Given the description of an element on the screen output the (x, y) to click on. 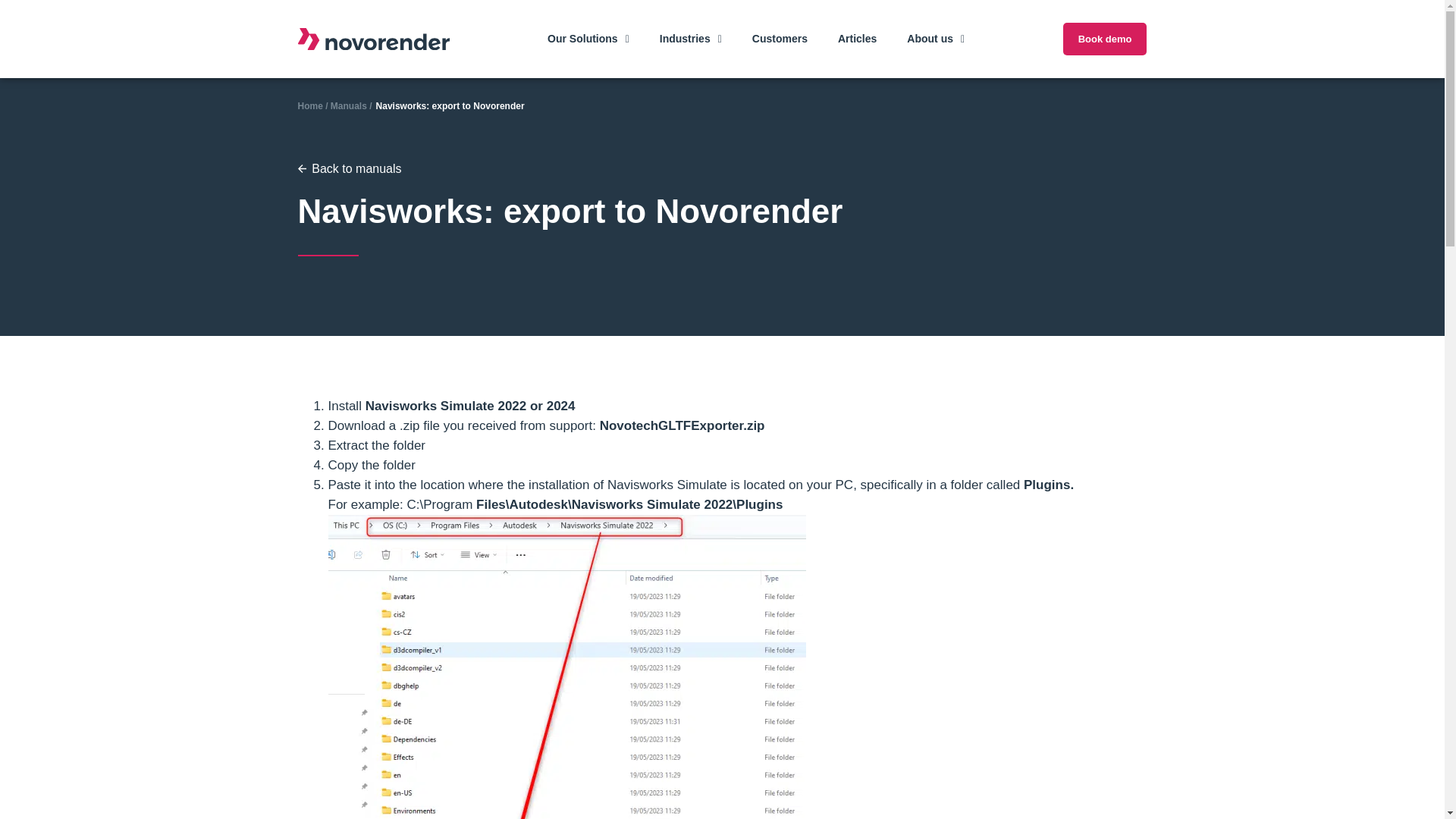
Customers (779, 38)
Our Solutions (588, 38)
Articles (856, 38)
Industries (690, 38)
Book demo (1104, 38)
About us (935, 38)
